Given the description of an element on the screen output the (x, y) to click on. 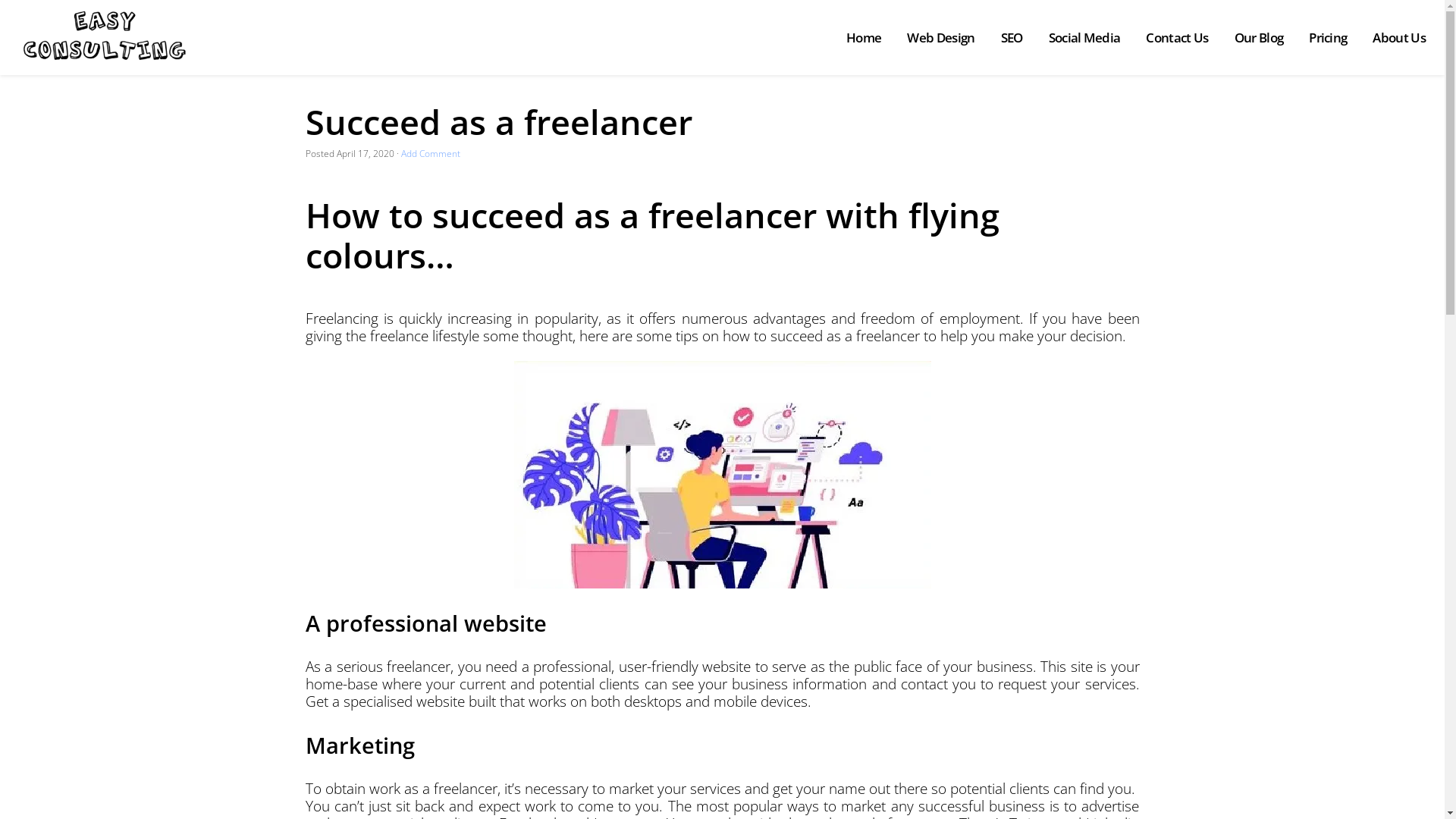
How to succeed as a freelancer Element type: hover (722, 474)
SEO Element type: text (1011, 37)
About Us Element type: text (1398, 37)
Contact Us Element type: text (1176, 37)
Add Comment Element type: text (429, 153)
Our Blog Element type: text (1258, 37)
Web Design Element type: text (940, 37)
Social Media Element type: text (1084, 37)
Home Element type: text (863, 37)
Pricing Element type: text (1327, 37)
